Given the description of an element on the screen output the (x, y) to click on. 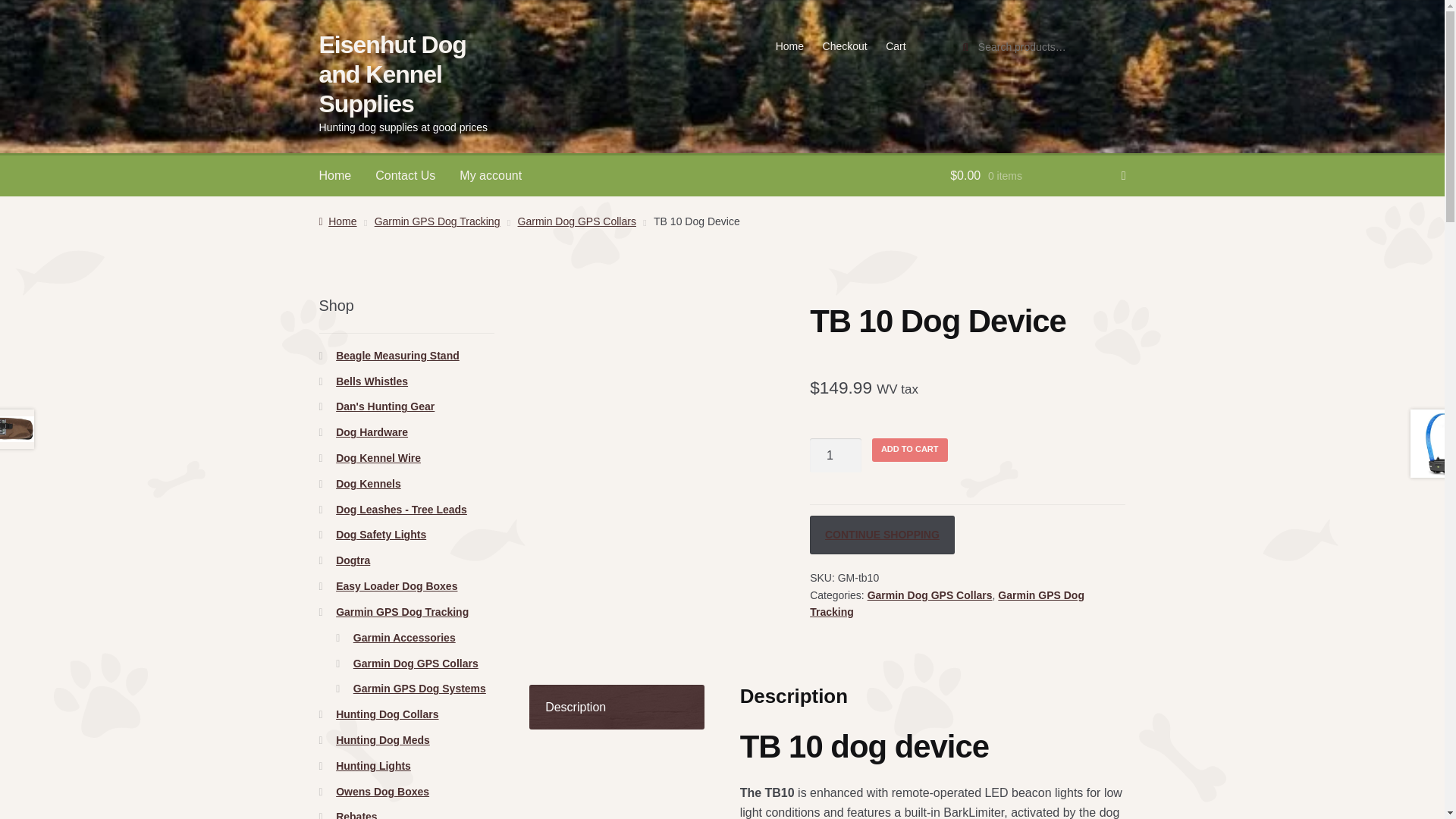
ADD TO CART (909, 449)
Checkout (844, 46)
Home (335, 175)
Eisenhut Dog and Kennel Supplies (391, 74)
1 (835, 455)
Cart (895, 46)
Garmin Dog GPS Collars (929, 594)
Home (337, 221)
Description (616, 707)
